Given the description of an element on the screen output the (x, y) to click on. 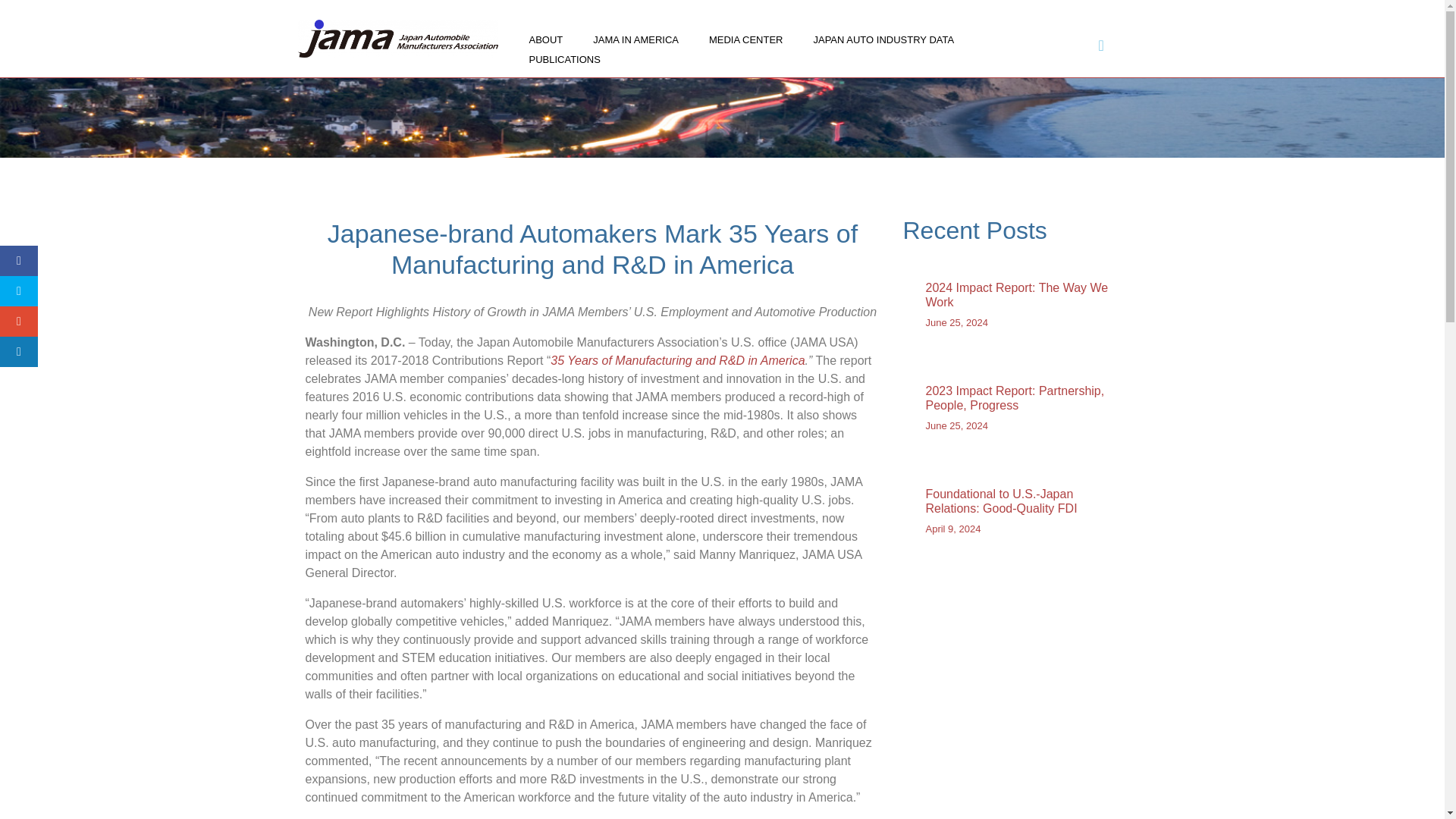
ABOUT (545, 39)
MEDIA CENTER (745, 39)
JAPAN AUTO INDUSTRY DATA (883, 39)
JAMA IN AMERICA (636, 39)
PUBLICATIONS (563, 59)
